Given the description of an element on the screen output the (x, y) to click on. 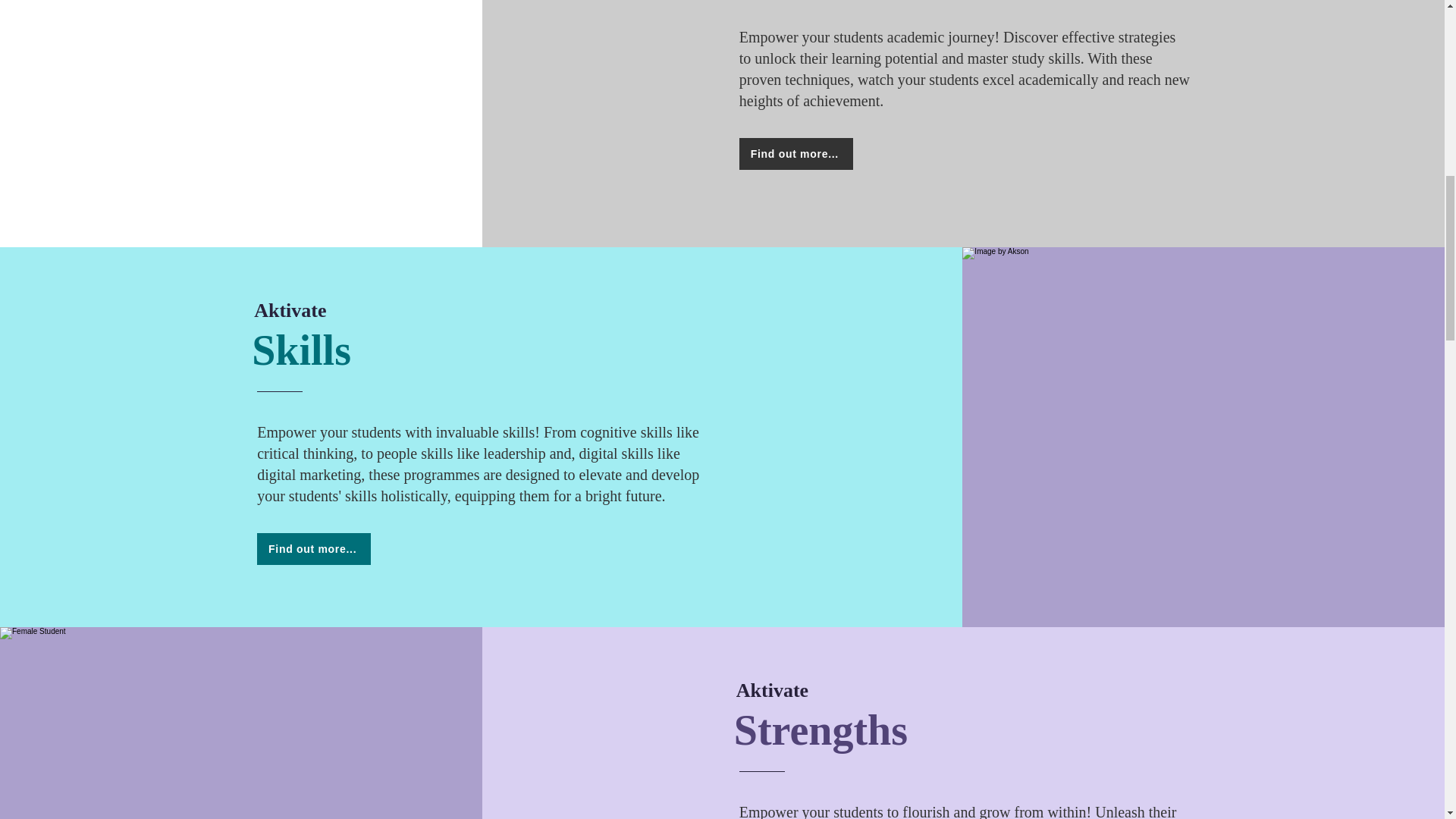
Find out more... (314, 549)
Find out more... (796, 153)
